Given the description of an element on the screen output the (x, y) to click on. 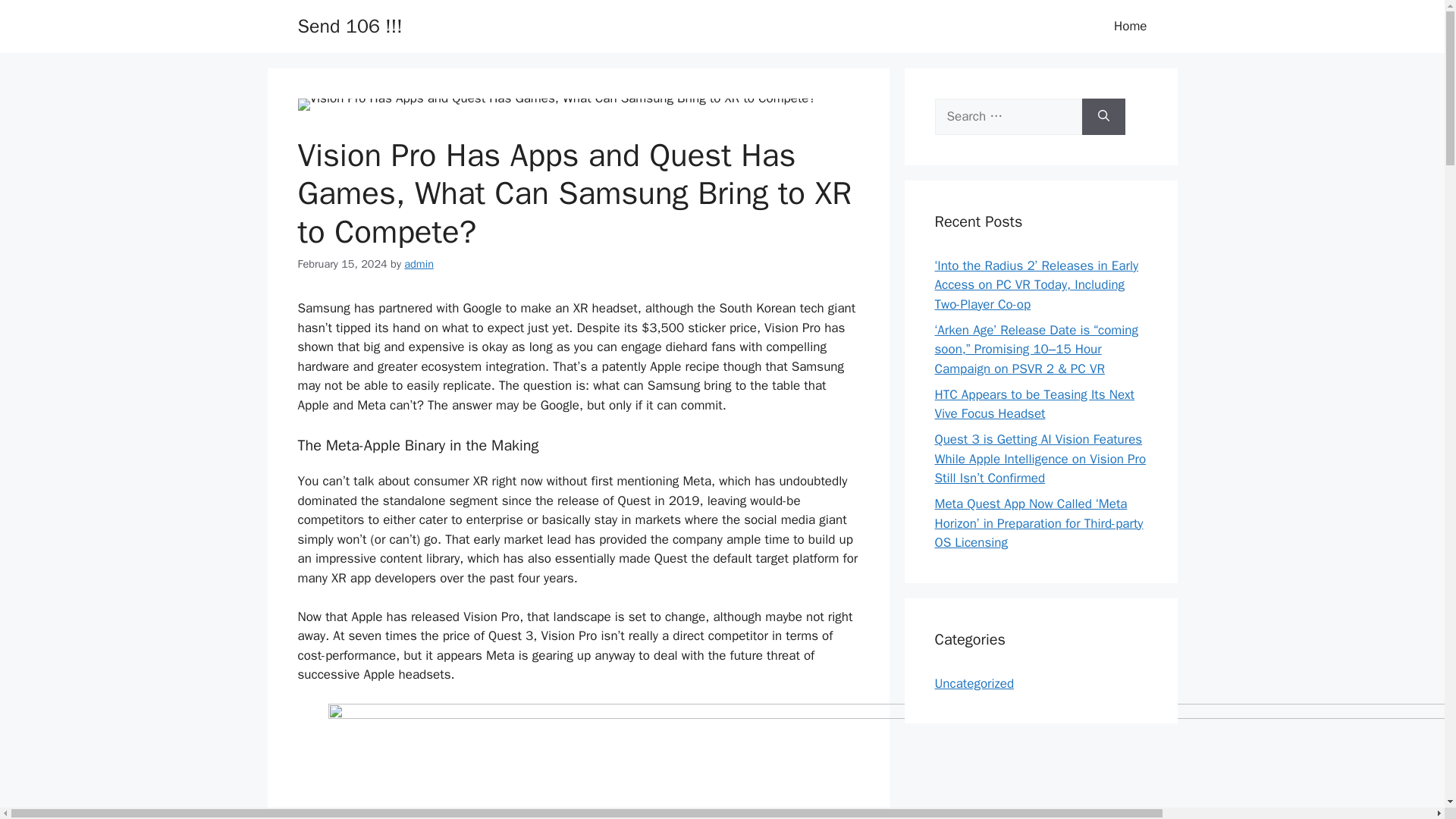
Uncategorized (973, 682)
HTC Appears to be Teasing Its Next Vive Focus Headset (1034, 404)
Search for: (1007, 116)
admin (418, 264)
View all posts by admin (418, 264)
Home (1130, 26)
Send 106 !!! (349, 25)
